Given the description of an element on the screen output the (x, y) to click on. 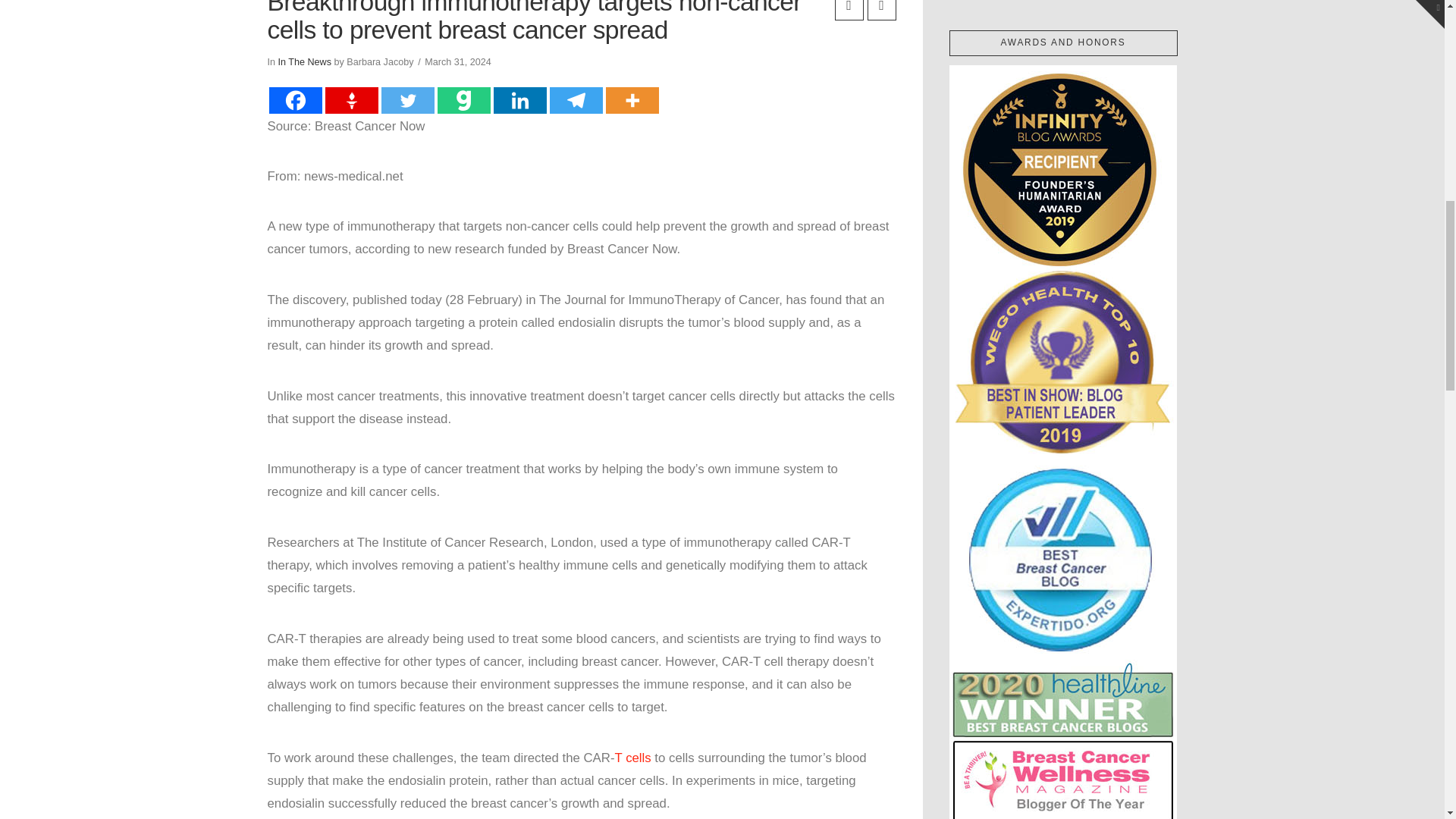
Gab (462, 99)
Gettr (350, 99)
Linkedin (519, 99)
More (631, 99)
Facebook (294, 99)
Twitter (406, 99)
Telegram (575, 99)
